Given the description of an element on the screen output the (x, y) to click on. 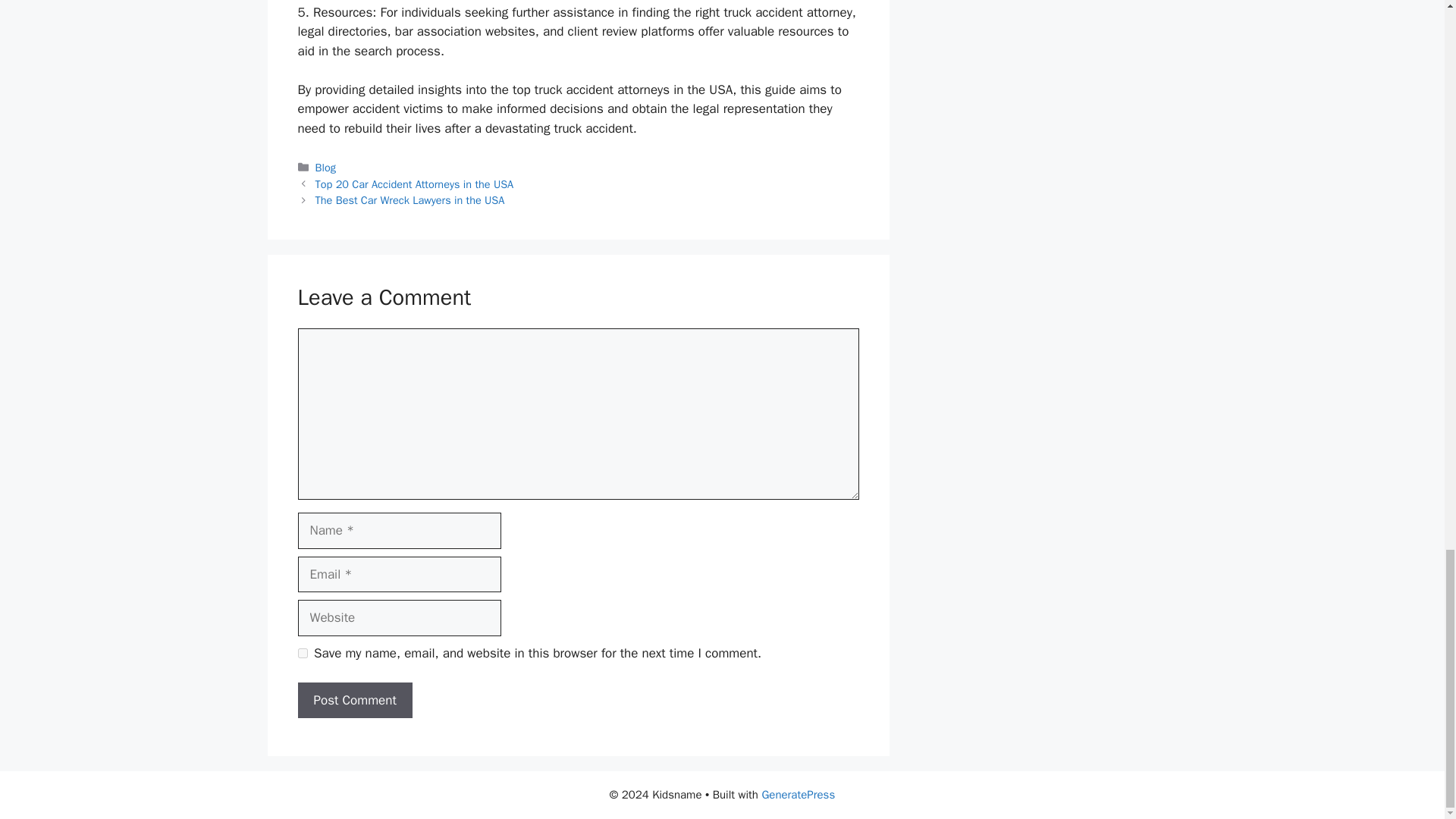
The Best Car Wreck Lawyers in the USA (410, 200)
Blog (325, 167)
Top 20 Car Accident Attorneys in the USA (414, 183)
Post Comment (354, 700)
yes (302, 653)
Post Comment (354, 700)
GeneratePress (797, 794)
